Given the description of an element on the screen output the (x, y) to click on. 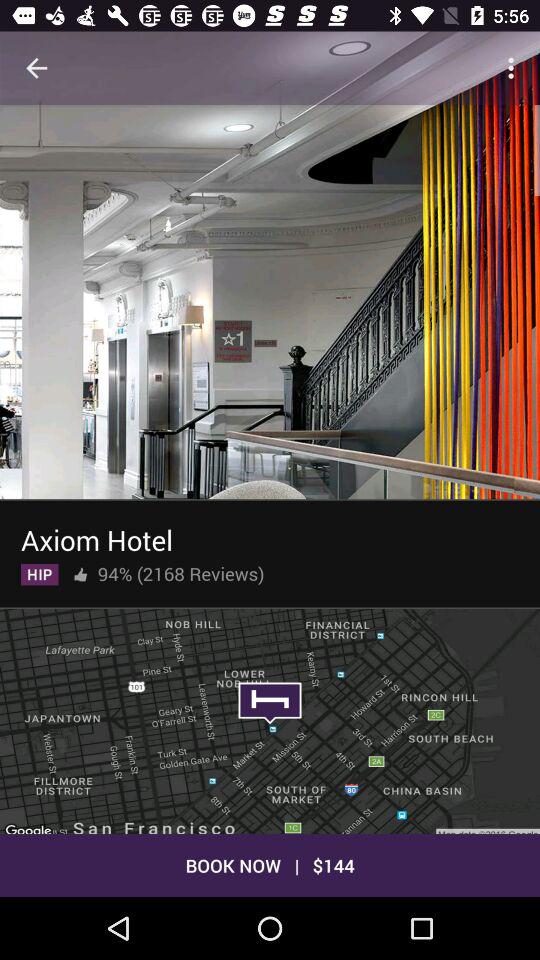
scroll until the book now   |   $144 item (270, 864)
